Given the description of an element on the screen output the (x, y) to click on. 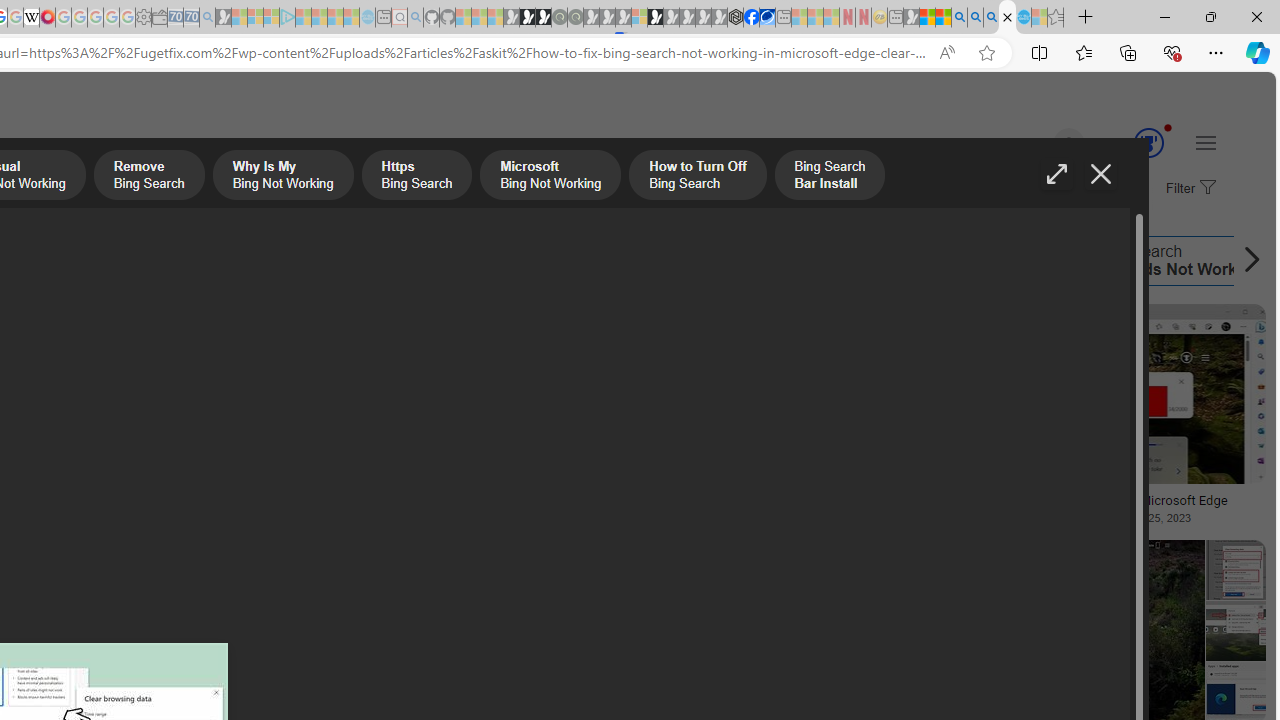
Sign in to your account - Sleeping (639, 17)
Microsoft Bing Not Working (141, 260)
New tab - Sleeping (895, 17)
How to Turn Off Bing Search (268, 260)
AutomationID: serp_medal_svg (1148, 142)
White Bing Cherries (143, 493)
Target page - Wikipedia (31, 17)
Bing Search Rewards Not Working (1066, 260)
How to Get Rid of Bing Search (848, 260)
